Given the description of an element on the screen output the (x, y) to click on. 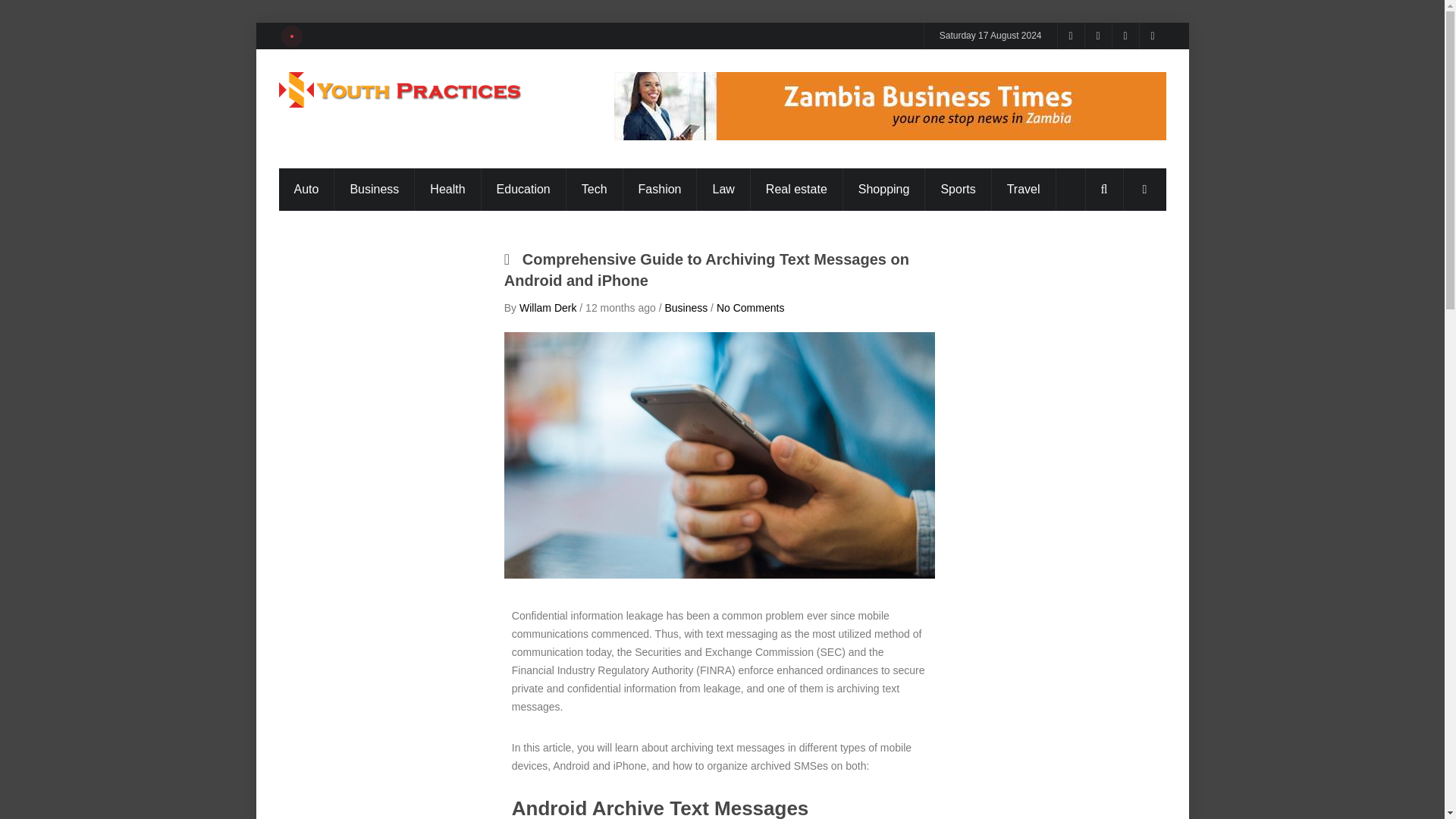
Tech (594, 189)
rss (1070, 35)
Education (523, 189)
Business (373, 189)
twitter (1152, 35)
Health (447, 189)
googleplus (1098, 35)
facebook (1125, 35)
Posts by Willam Derk (547, 307)
Random Post (1144, 189)
